Given the description of an element on the screen output the (x, y) to click on. 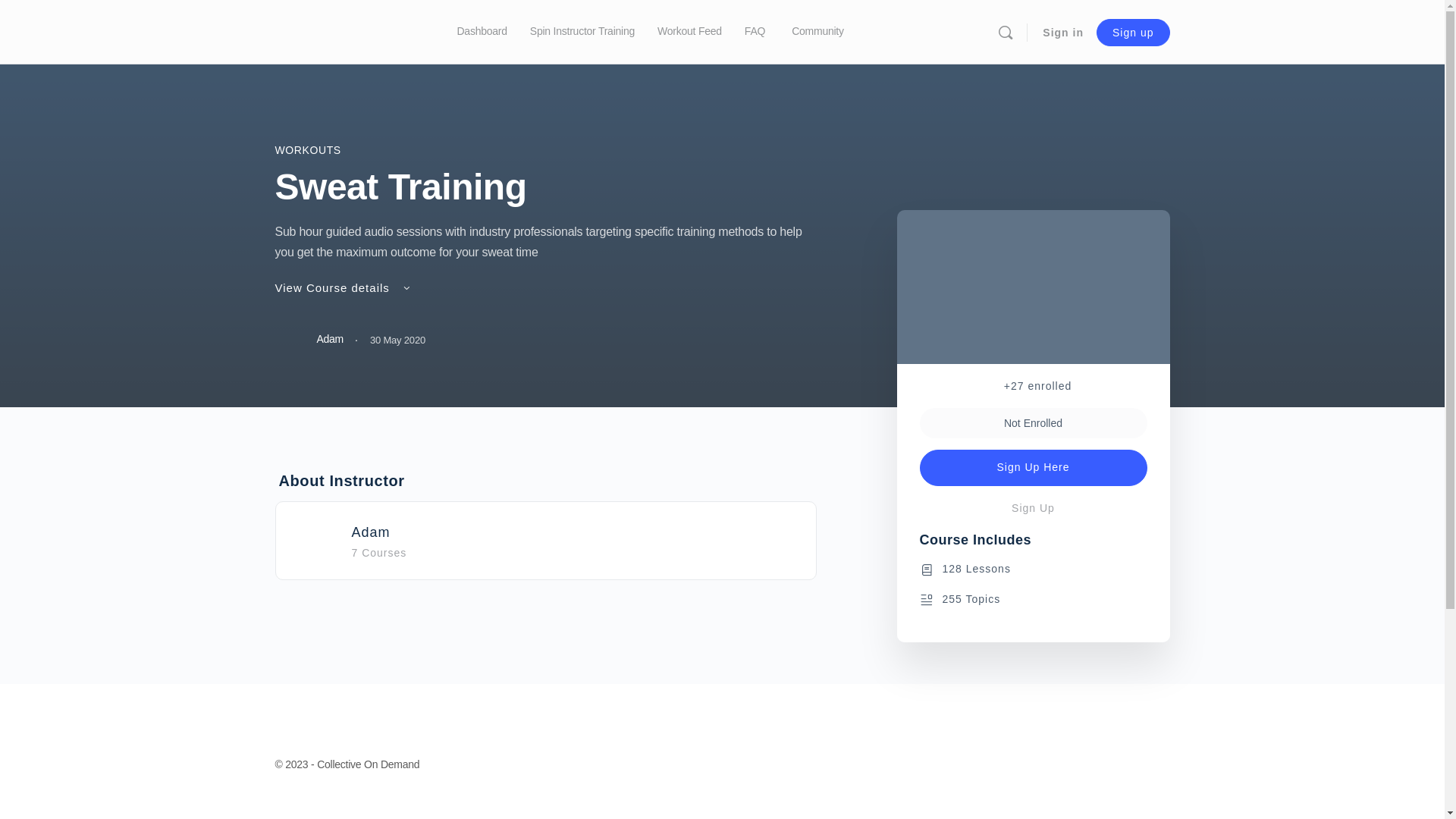
Community Element type: text (824, 32)
FAQ Element type: text (754, 32)
Sign in Element type: text (1062, 32)
View Course details Element type: text (342, 287)
Sign Up Here Element type: text (1032, 467)
Sign up Element type: text (1132, 31)
Adam Element type: text (308, 339)
Workout Feed Element type: text (689, 32)
Spin Instructor Training Element type: text (582, 32)
Adam Element type: text (370, 531)
WORKOUTS Element type: text (307, 150)
Dashboard Element type: text (481, 32)
